Given the description of an element on the screen output the (x, y) to click on. 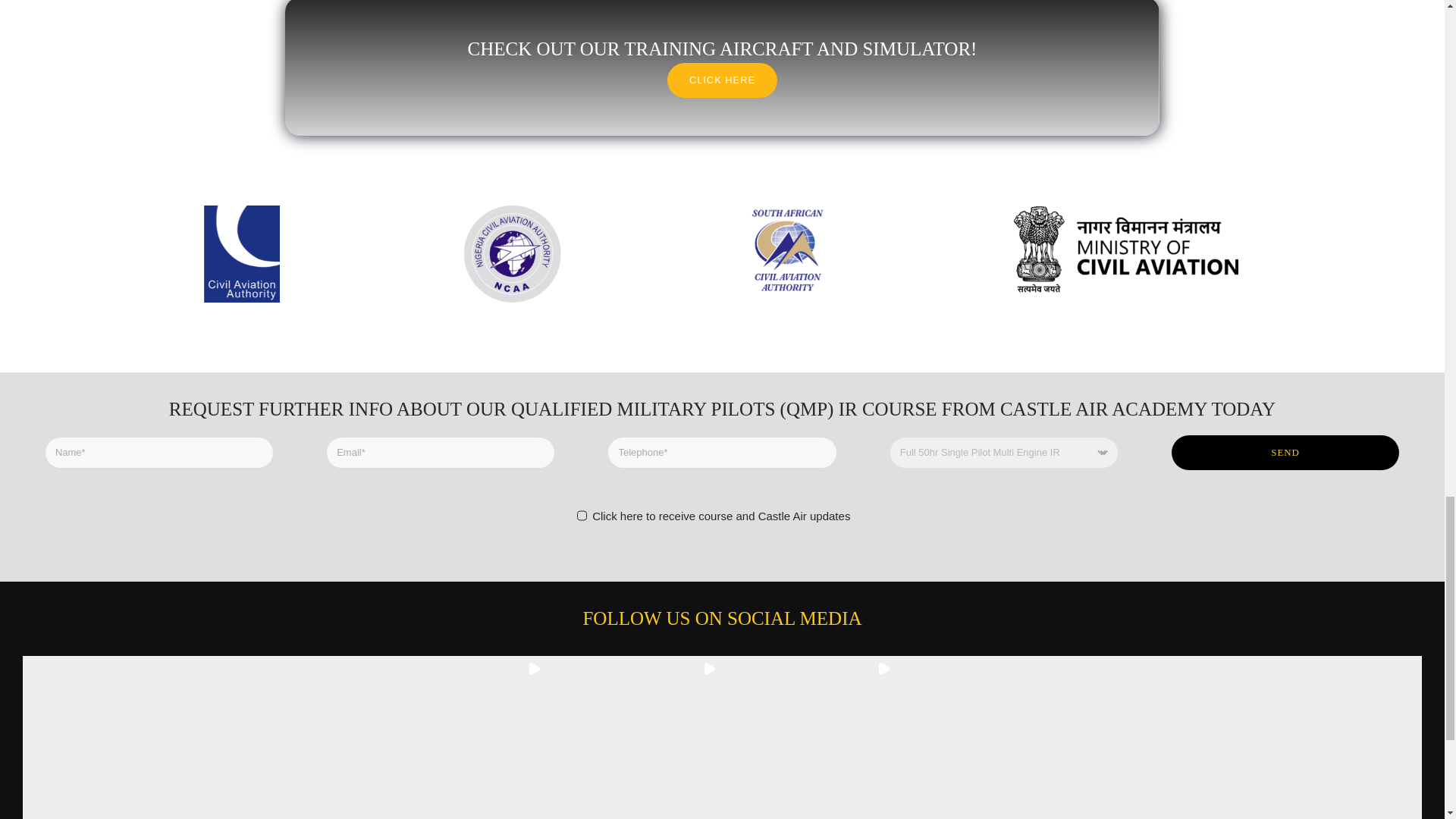
SEND (1285, 452)
Screenshot 2024-01-03 at 16.32.46 (721, 253)
CLICK HERE (721, 80)
